Given the description of an element on the screen output the (x, y) to click on. 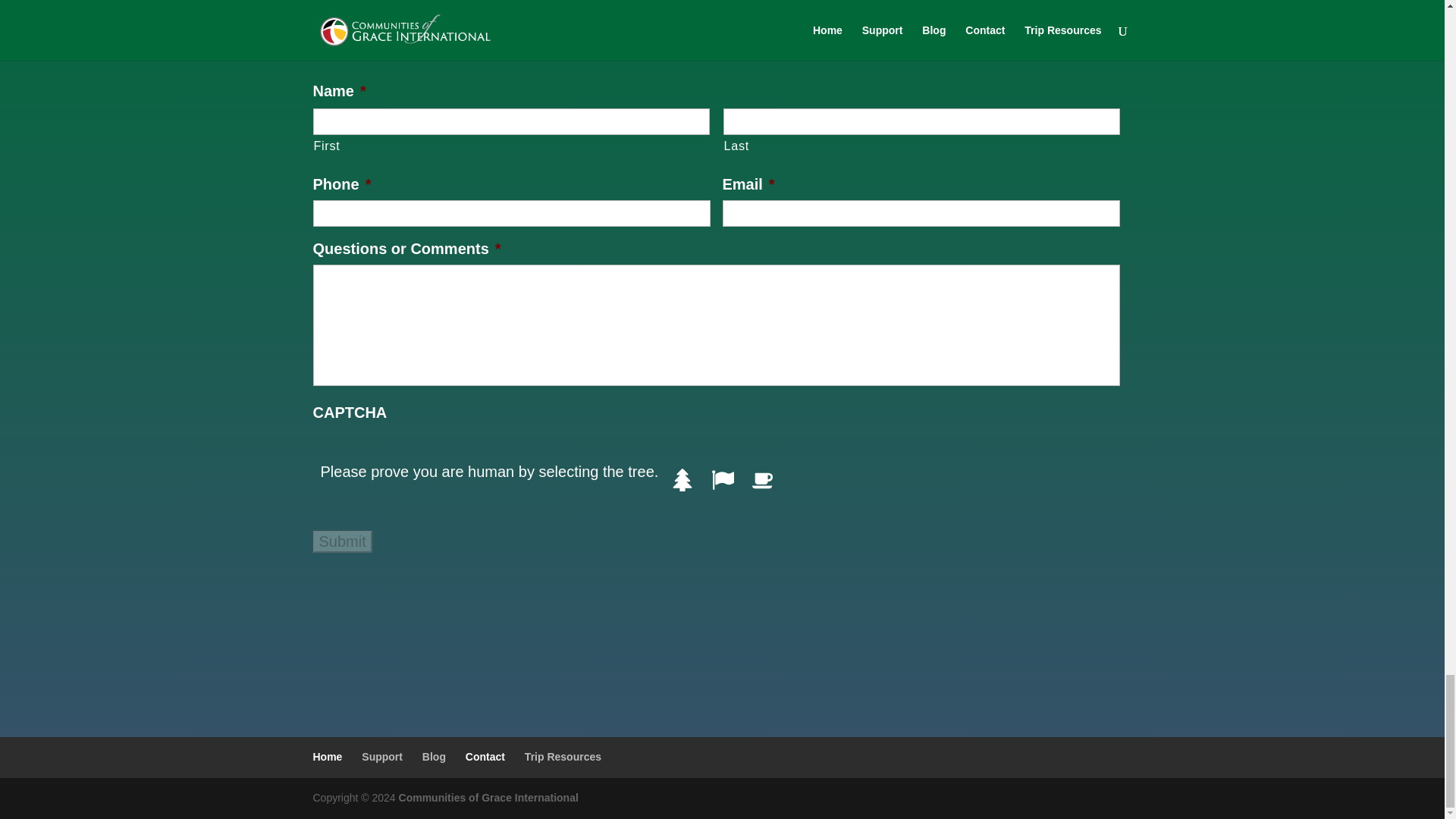
Submit (342, 541)
Contact (485, 756)
Trip Resources (562, 756)
Communities of Grace International (488, 797)
Home (327, 756)
Support (382, 756)
Submit (342, 541)
Blog (433, 756)
919-606-4847 (721, 13)
